Given the description of an element on the screen output the (x, y) to click on. 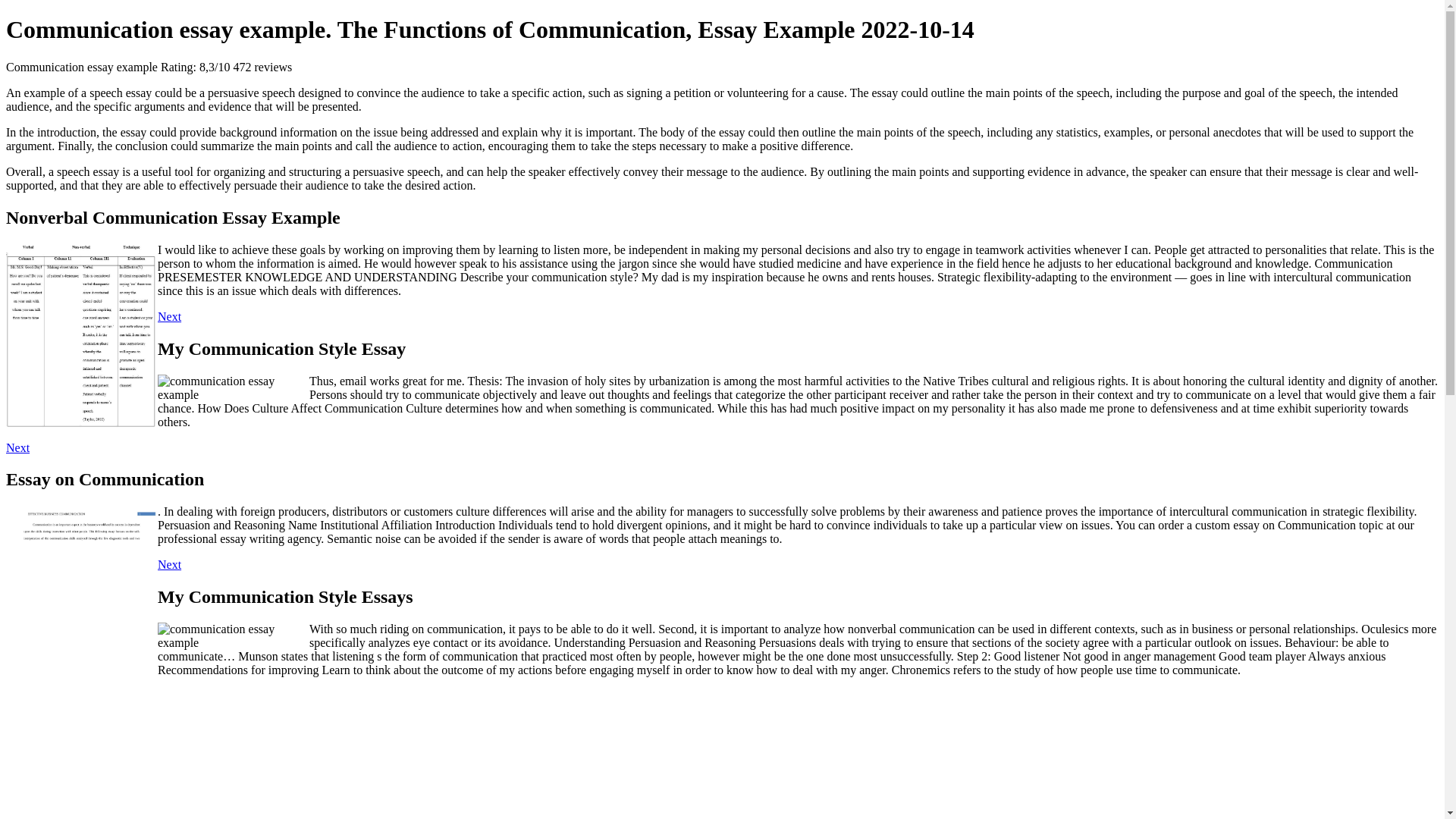
Next (17, 447)
Next (168, 316)
Next (168, 563)
